Given the description of an element on the screen output the (x, y) to click on. 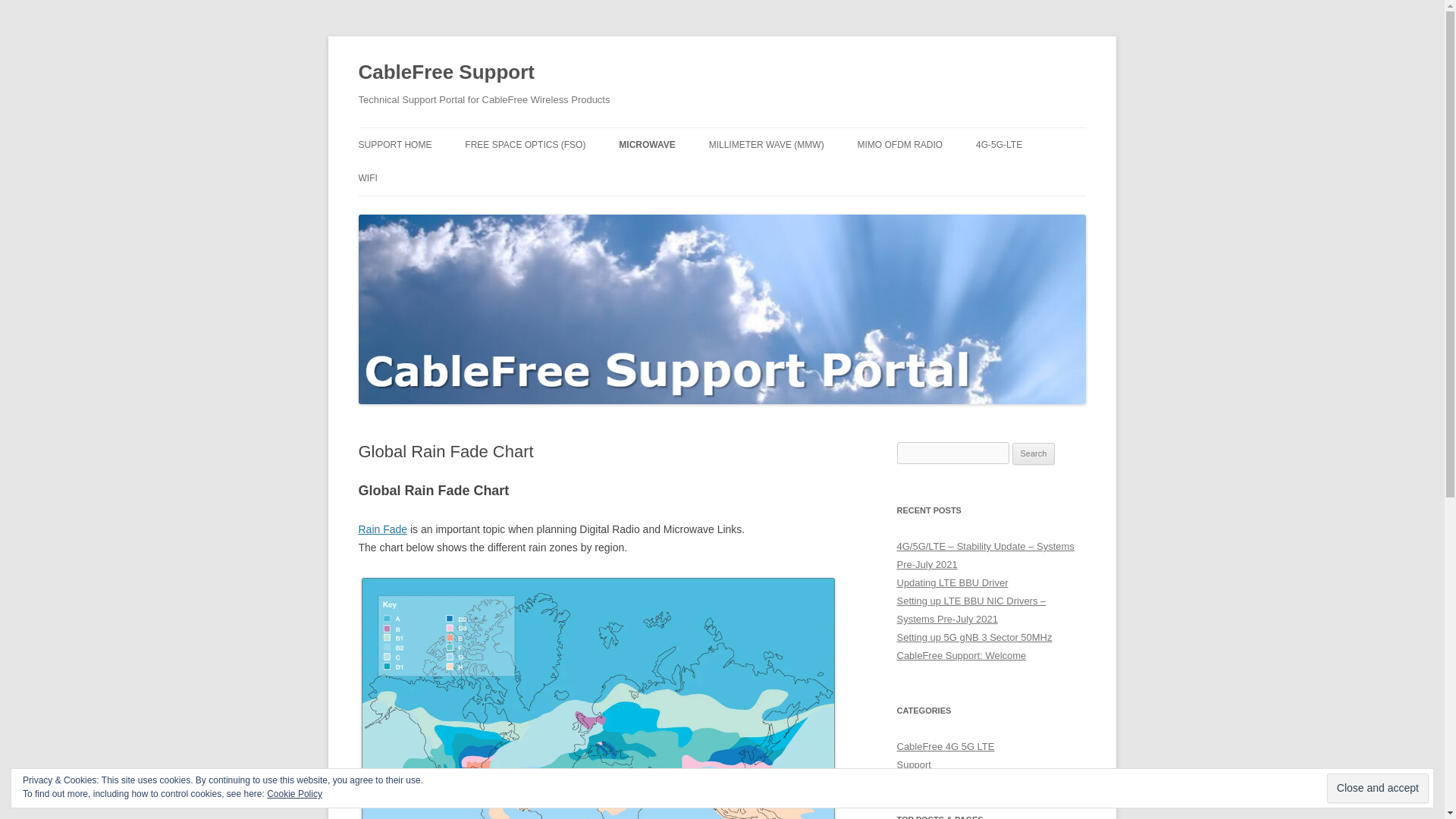
CableFree Support: Welcome (961, 655)
4G-5G-LTE (998, 144)
Search (1033, 454)
Rain Fade (382, 529)
CableFree Support (446, 72)
MICROWAVE (646, 144)
MIMO OFDM RADIO (900, 144)
CableFree 4G 5G LTE (945, 746)
Search (1033, 454)
Support (913, 764)
Updating LTE BBU Driver (951, 582)
Setting up 5G gNB 3 Sector 50MHz (973, 636)
Close and accept (1377, 788)
Close and accept (1377, 788)
